Given the description of an element on the screen output the (x, y) to click on. 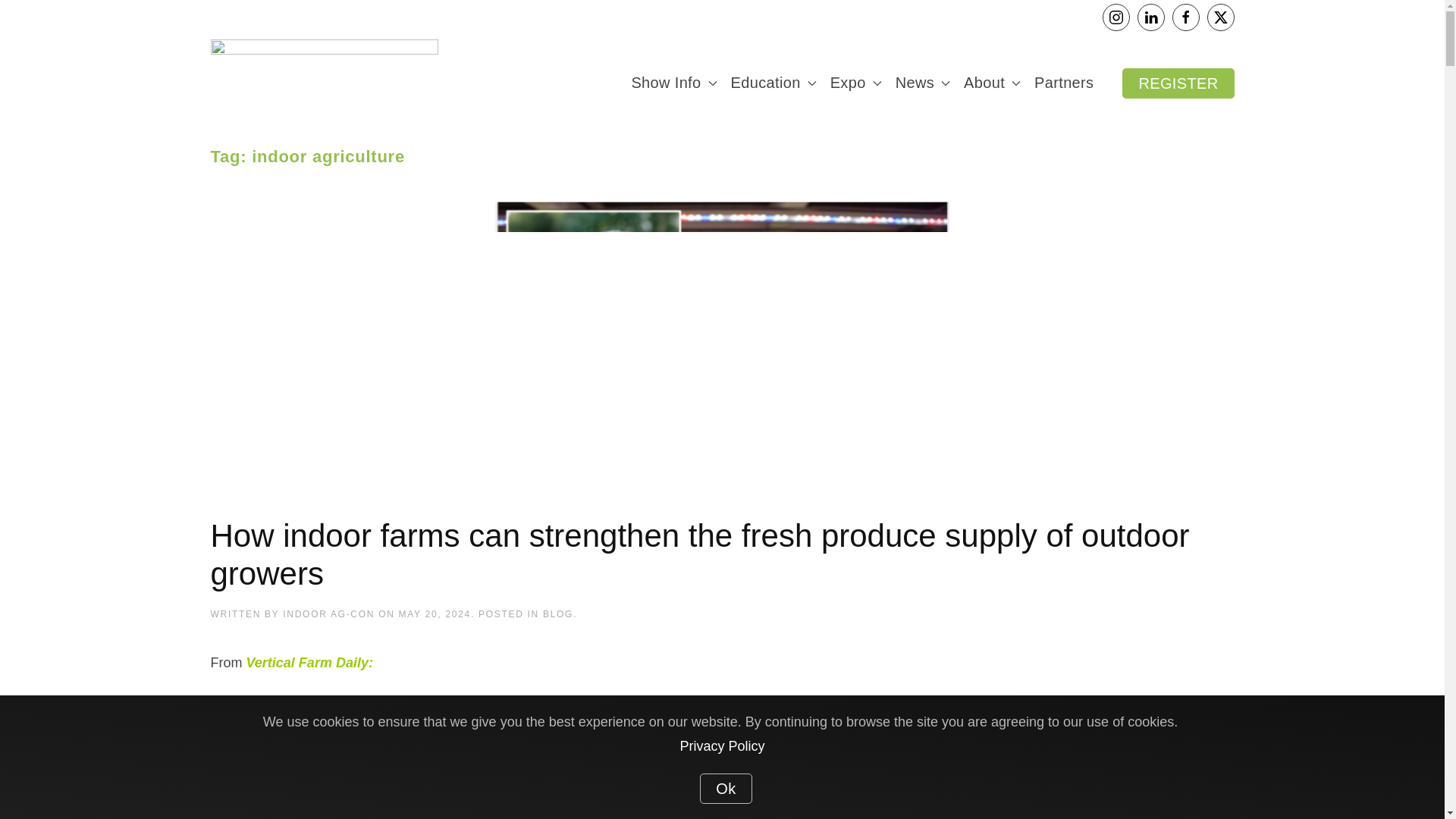
Logo Main (324, 82)
Expo (856, 83)
Education (773, 83)
Show Info (673, 83)
News (922, 83)
